Given the description of an element on the screen output the (x, y) to click on. 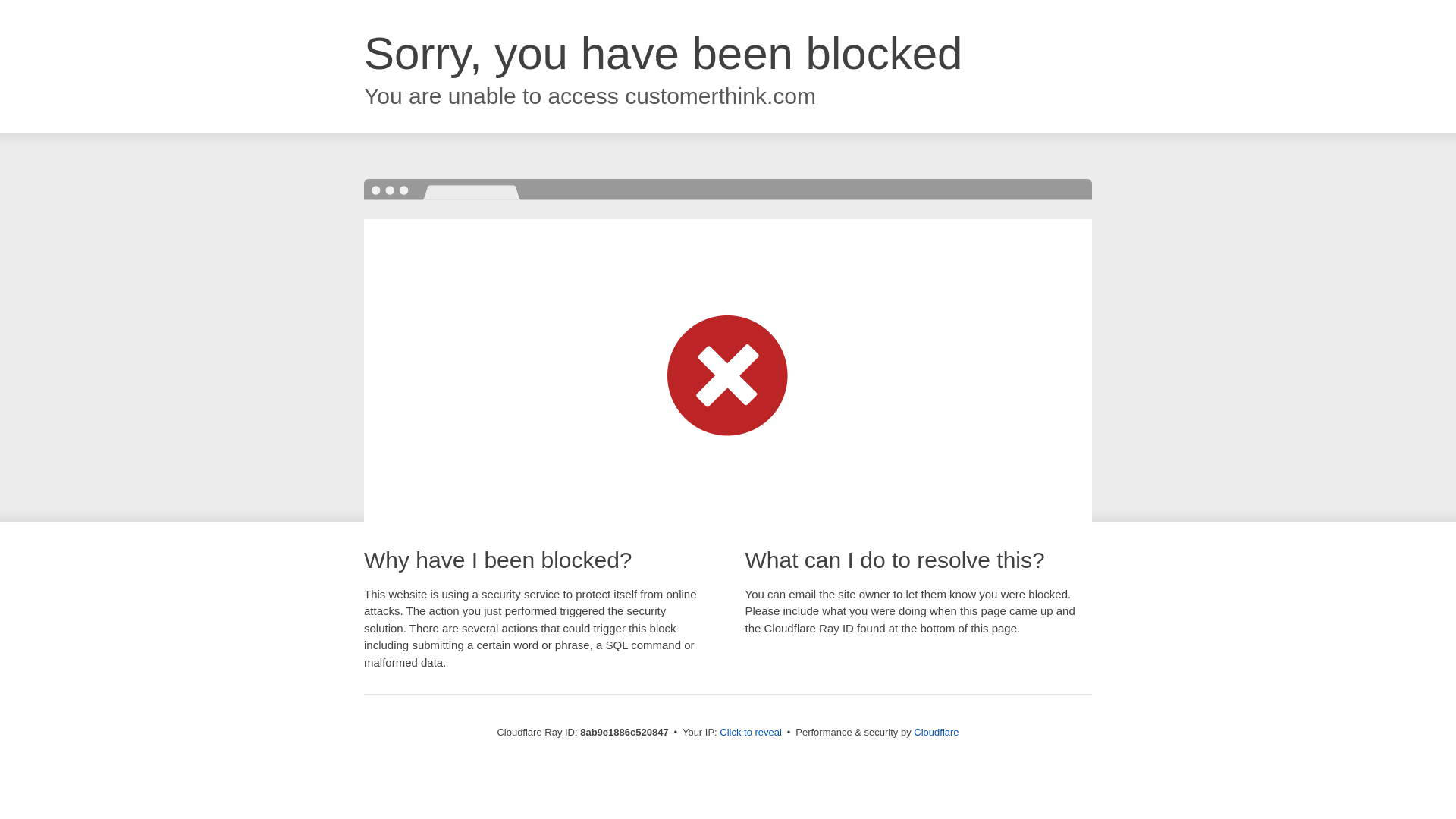
Cloudflare (936, 731)
Click to reveal (750, 732)
